Given the description of an element on the screen output the (x, y) to click on. 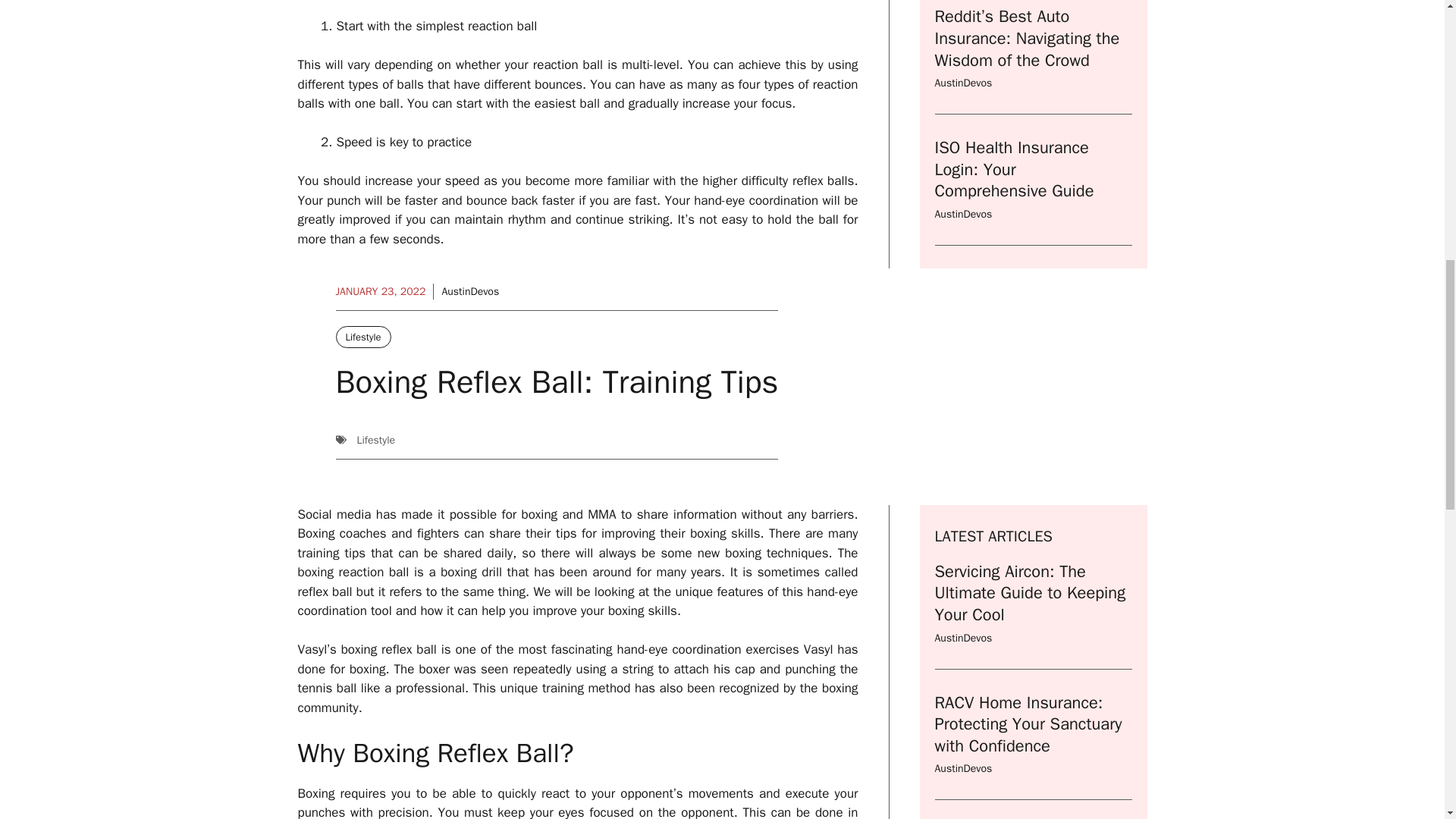
Lifestyle (362, 336)
AustinDevos (962, 637)
AustinDevos (962, 768)
Lifestyle (375, 440)
Servicing Aircon: The Ultimate Guide to Keeping Your Cool (1029, 593)
AustinDevos (962, 5)
AustinDevos (470, 291)
